Given the description of an element on the screen output the (x, y) to click on. 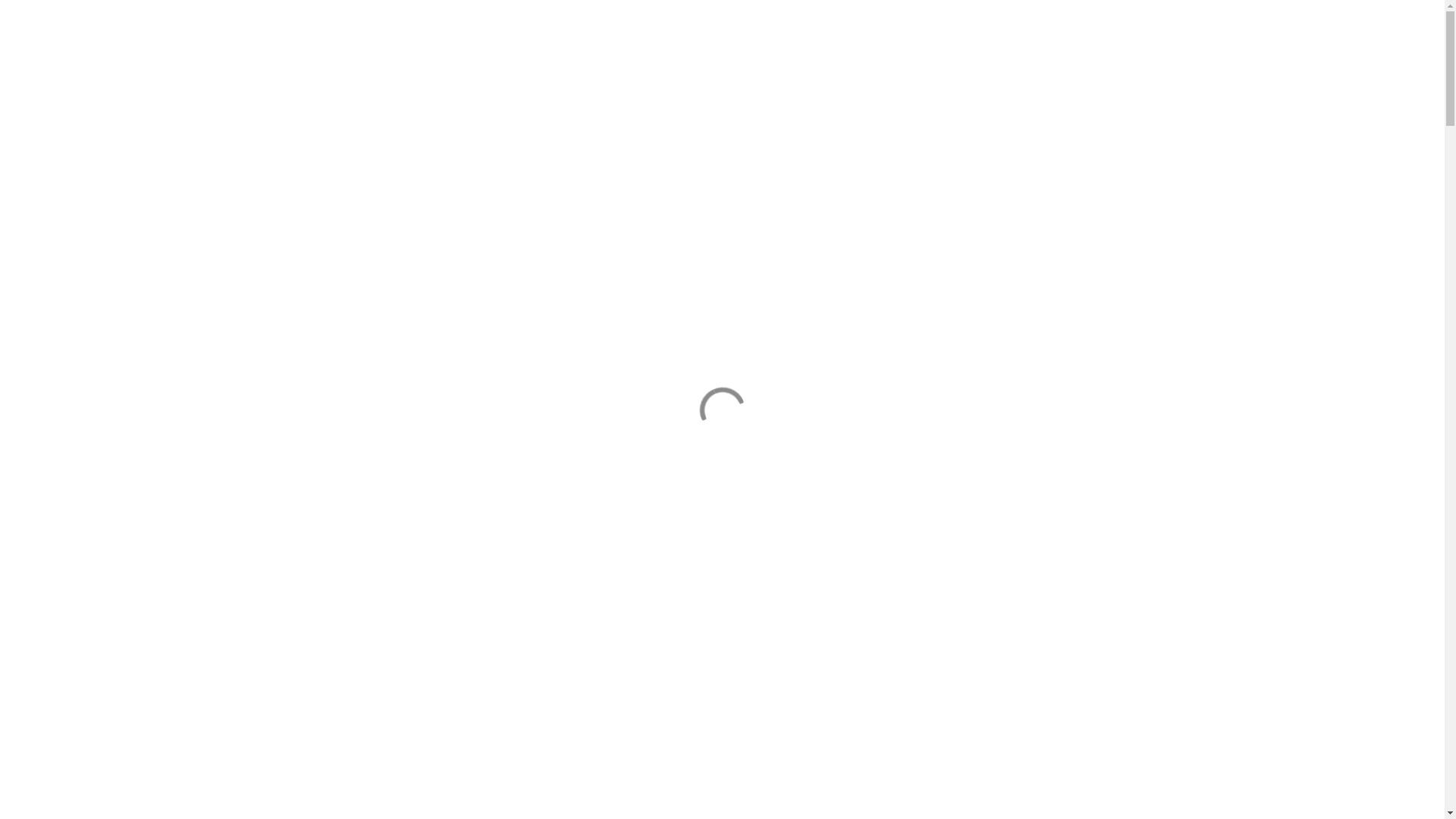
Contact Element type: text (1404, 55)
Insights Element type: text (1169, 55)
phli Custom-Series Element type: text (841, 593)
Start Element type: text (1082, 55)
About Element type: text (1317, 55)
phli U-Series Element type: text (742, 593)
Blog Element type: text (1358, 55)
phli WEISS-Edition Element type: text (581, 593)
Products Element type: text (1227, 55)
dStream Element type: text (668, 593)
Start Element type: text (1122, 55)
ap-AMT Element type: text (1276, 55)
